Given the description of an element on the screen output the (x, y) to click on. 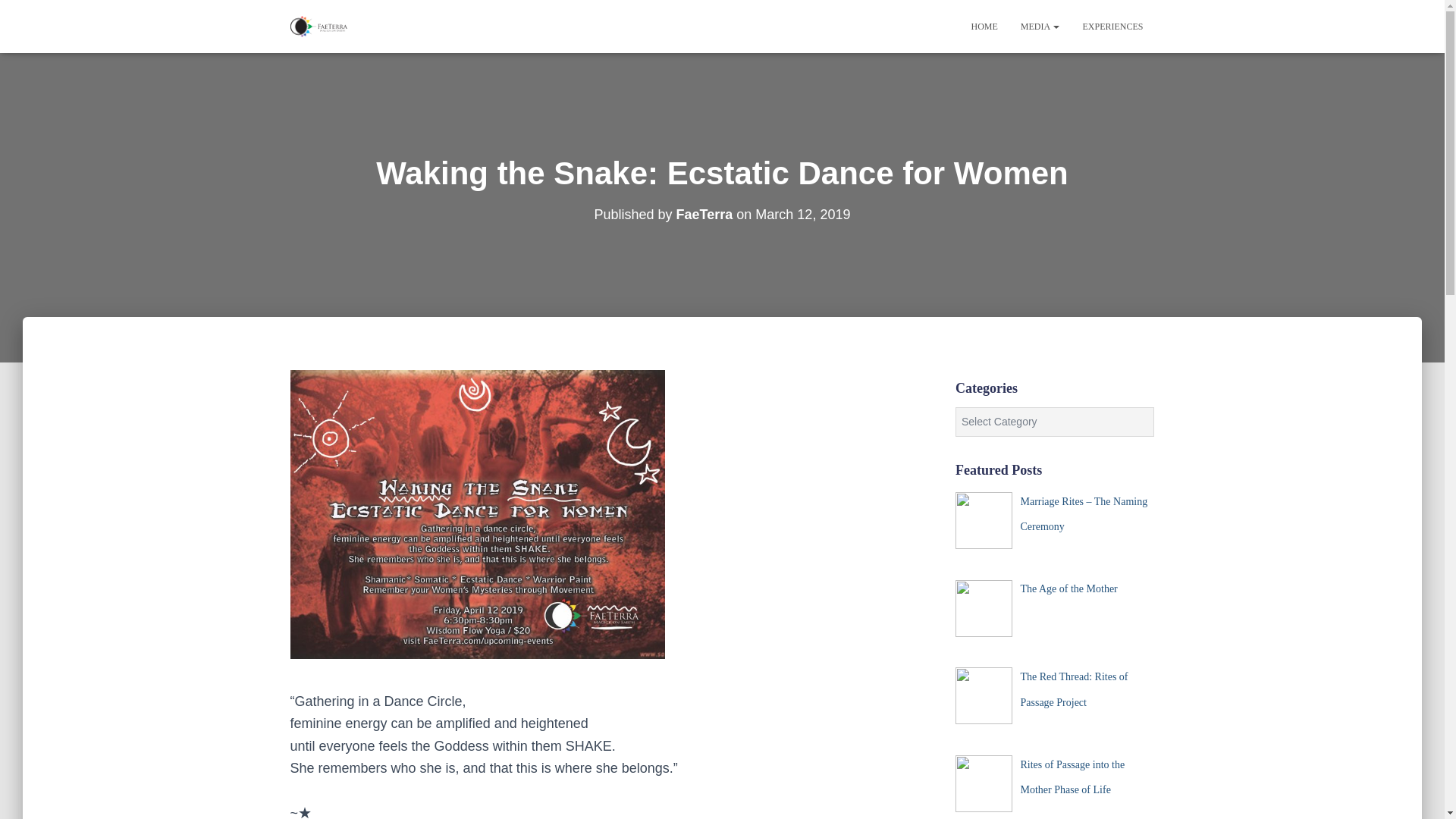
The Age of the Mother (1068, 588)
HOME (984, 26)
Rites of Passage into the Mother Phase of Life (1072, 777)
Experiences (1112, 26)
FaeTerra (705, 214)
EXPERIENCES (1112, 26)
Home (984, 26)
The Red Thread: Rites of Passage Project (1073, 689)
FaeTerra (318, 26)
Media (1040, 26)
